Given the description of an element on the screen output the (x, y) to click on. 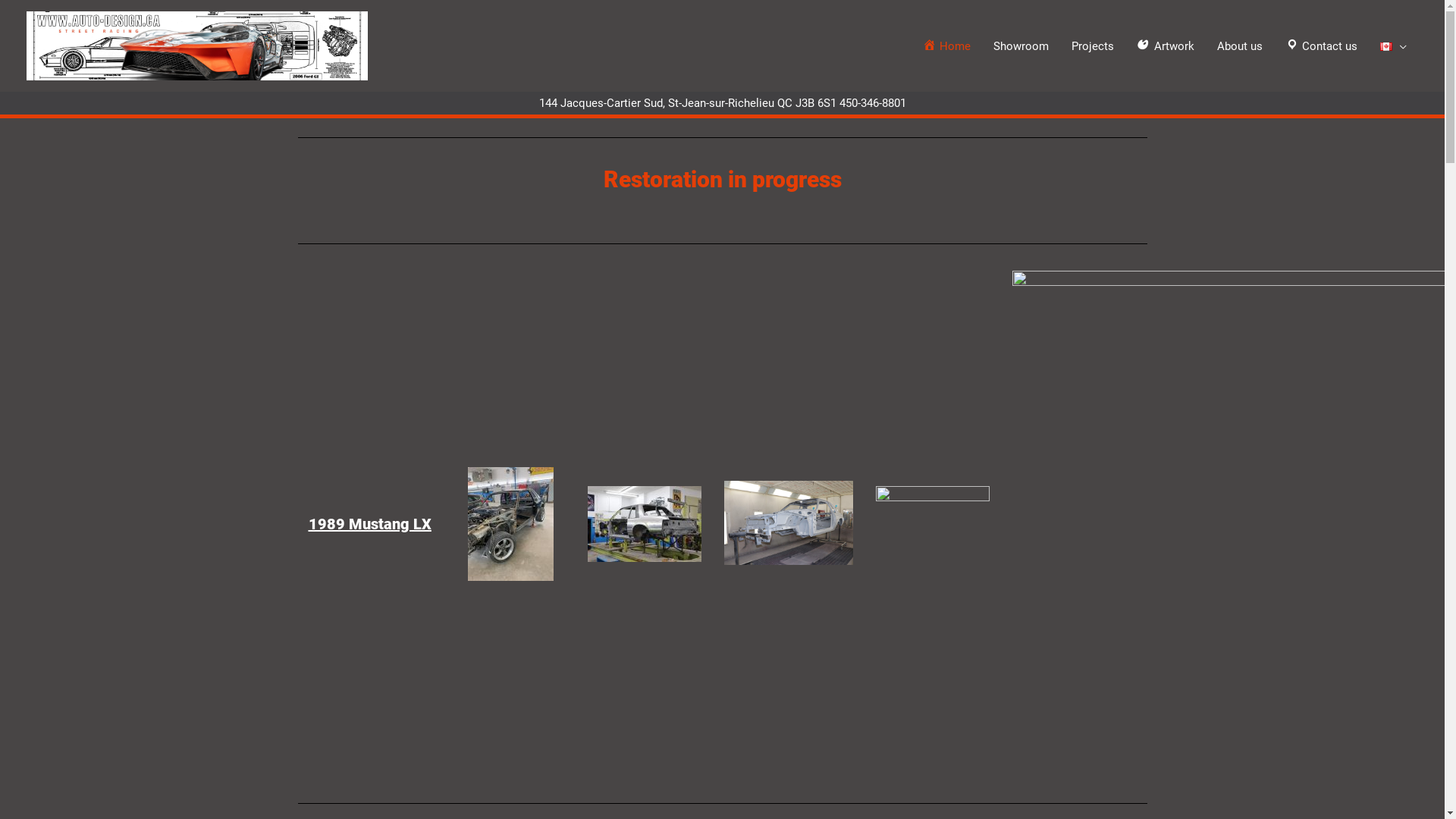
Showroom Element type: text (1021, 45)
Contact us Element type: text (1321, 45)
Artwork Element type: text (1165, 45)
Home Element type: text (946, 45)
About us Element type: text (1239, 45)
Projects Element type: text (1092, 45)
